Given the description of an element on the screen output the (x, y) to click on. 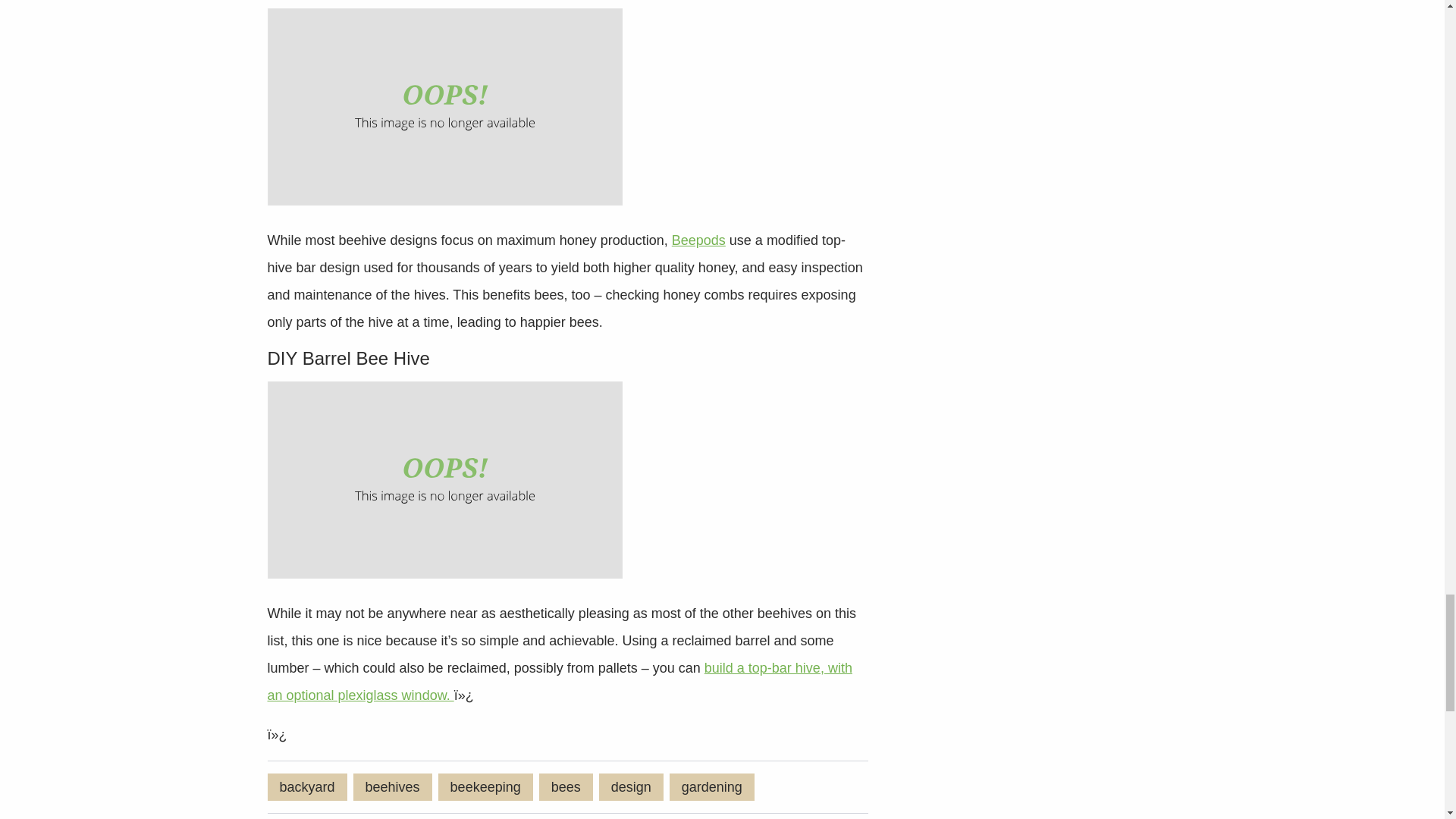
build a top-bar hive, with an optional plexiglass window. (558, 681)
Beehive Designs Beepods (443, 106)
Beepods (698, 240)
Beehive Design DIY Barrel (443, 479)
